Given the description of an element on the screen output the (x, y) to click on. 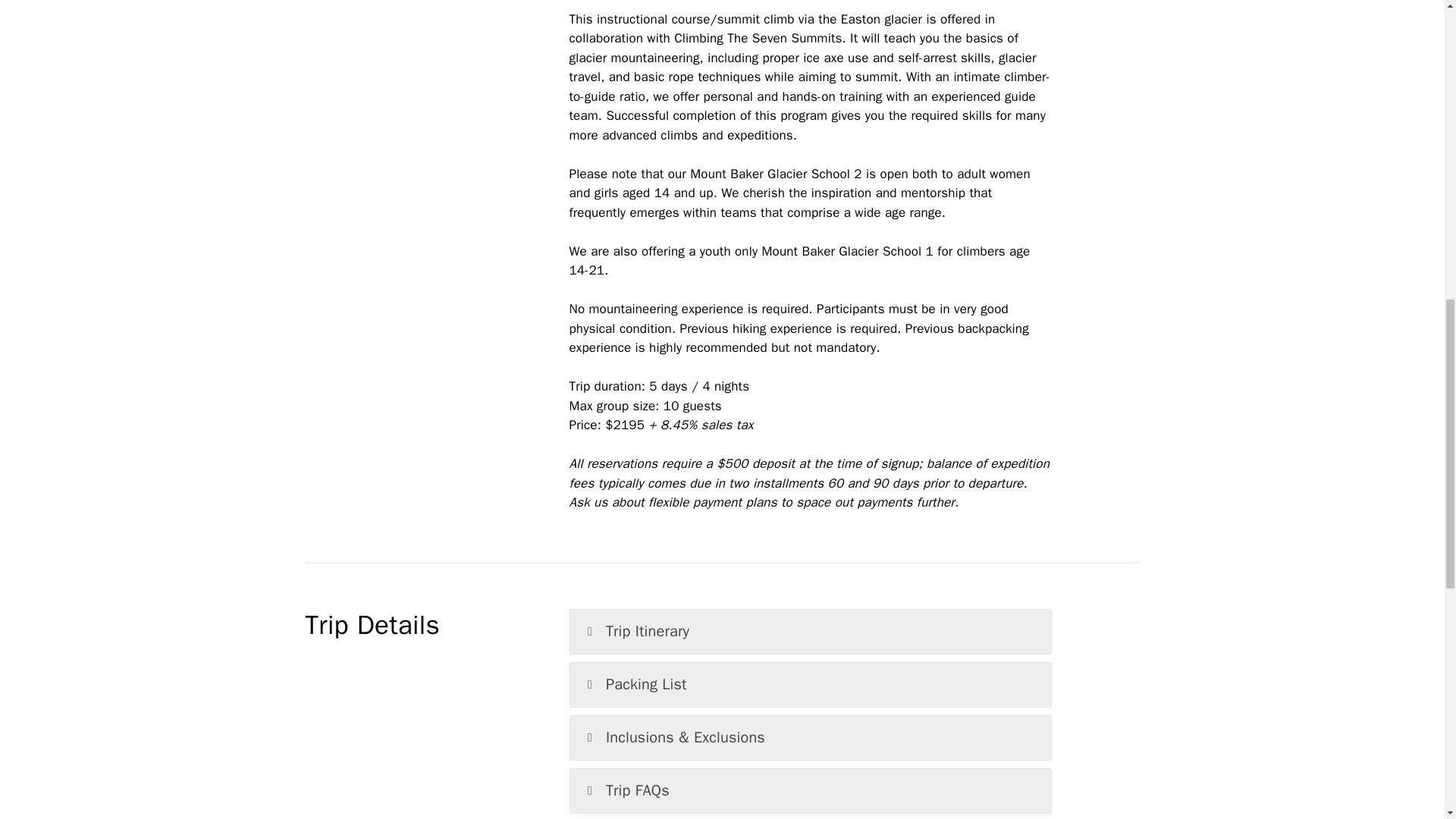
Trip Itinerary (810, 631)
Trip FAQs (810, 791)
Packing List (810, 684)
